Given the description of an element on the screen output the (x, y) to click on. 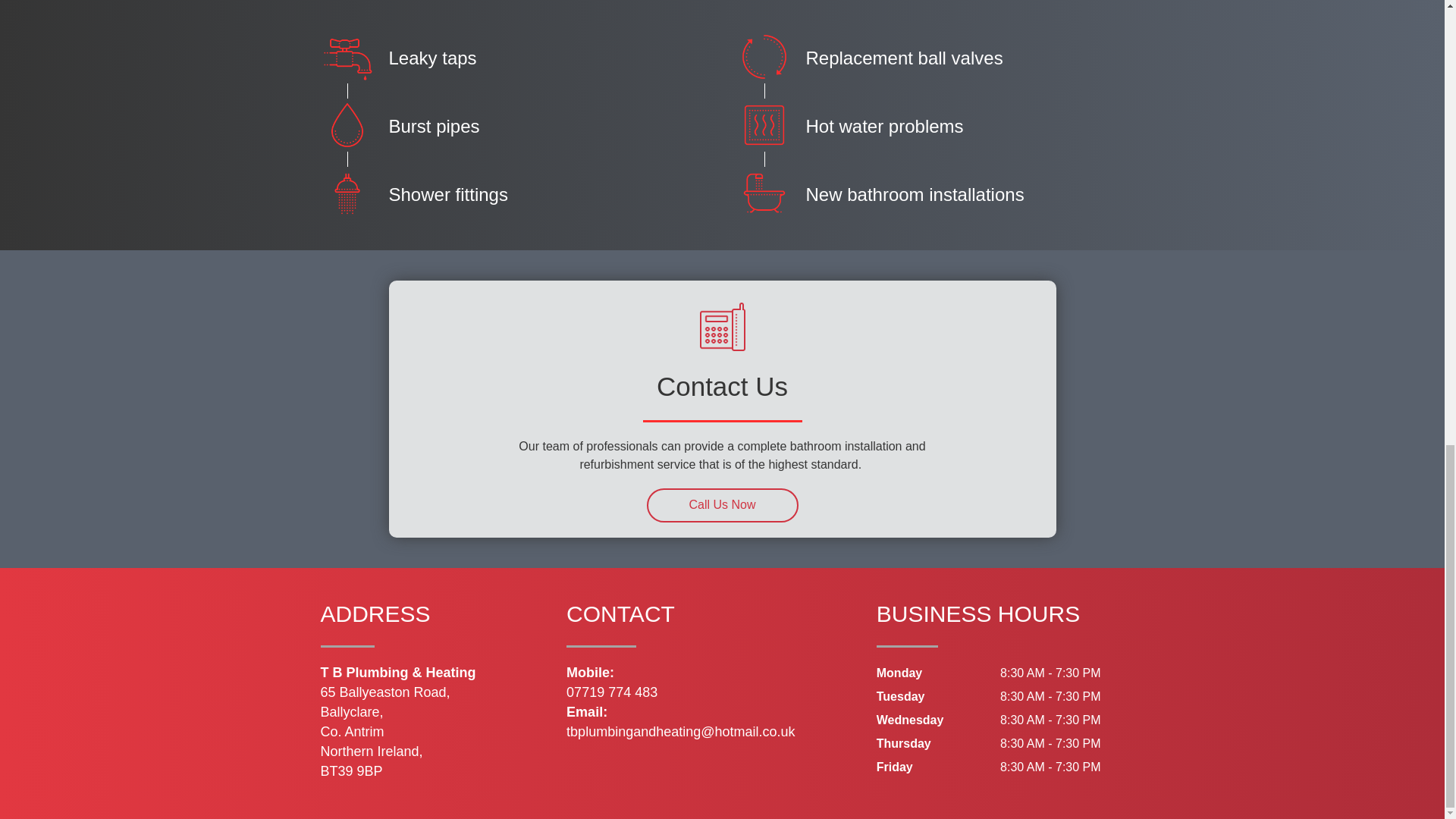
Call Us Now (721, 505)
icons8-water-240 (346, 124)
icons8-heating-240 (763, 124)
07719 774 483 (612, 692)
icons8-replace-240 (763, 56)
icons8-plumbing-240 (346, 56)
icons8-office-phone-240 (721, 329)
